Given the description of an element on the screen output the (x, y) to click on. 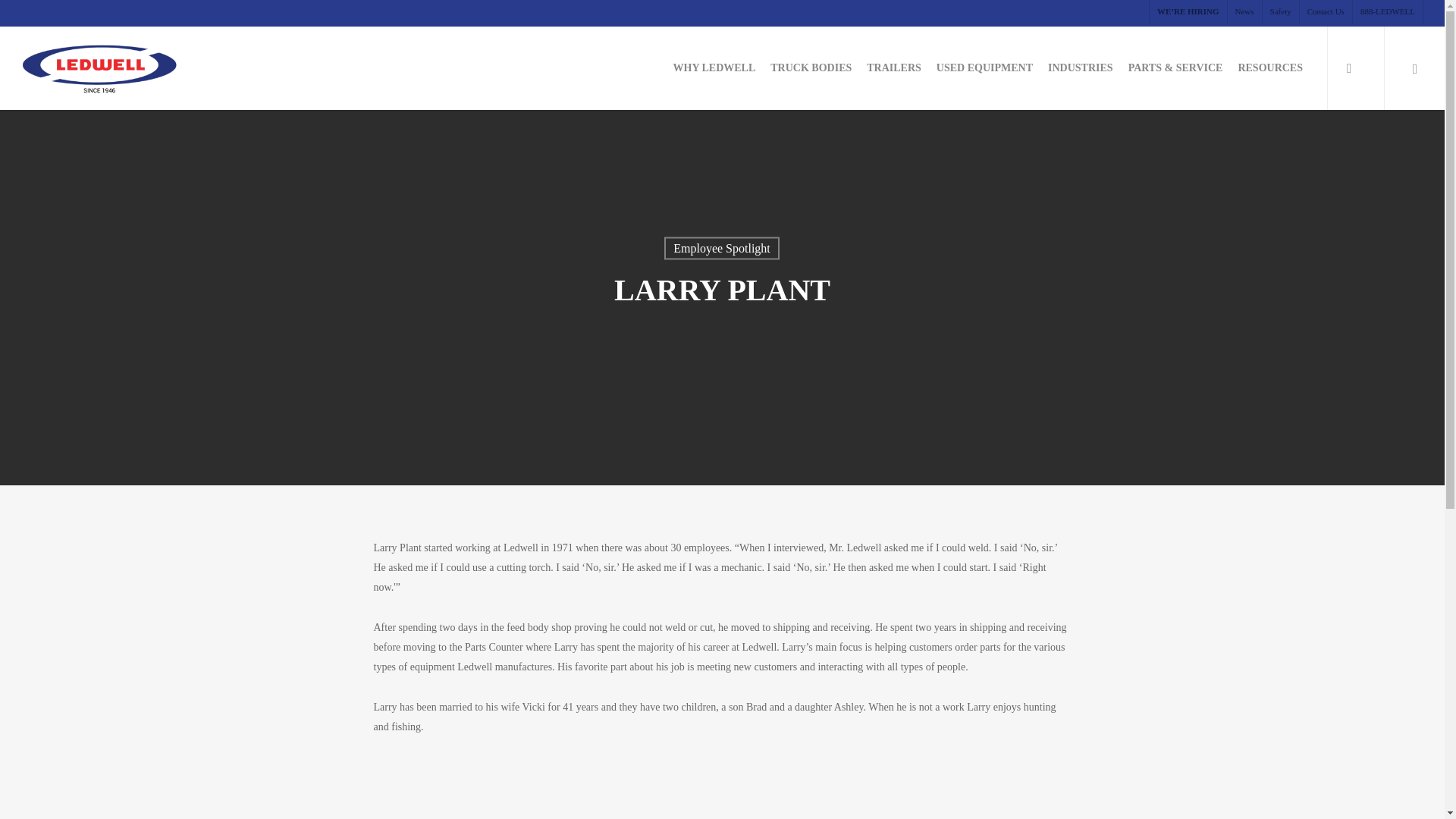
TRUCK BODIES (810, 68)
Safety (1280, 11)
Contact Us (1325, 11)
WHY LEDWELL (713, 68)
News (1244, 11)
888-LEDWELL (1387, 11)
